Given the description of an element on the screen output the (x, y) to click on. 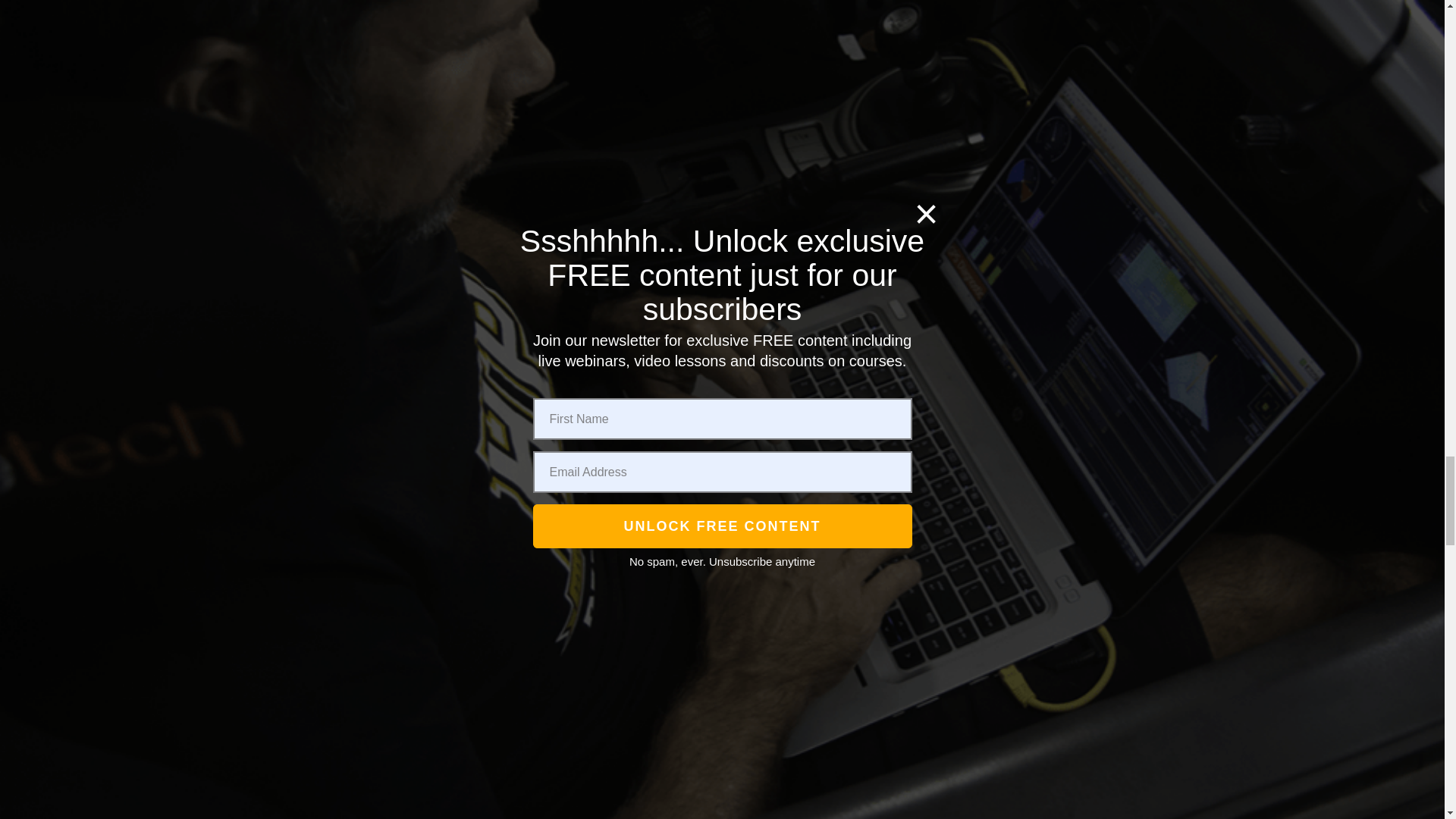
Click here to view Gord (355, 22)
Click here to view NSMK3 (354, 345)
